Given the description of an element on the screen output the (x, y) to click on. 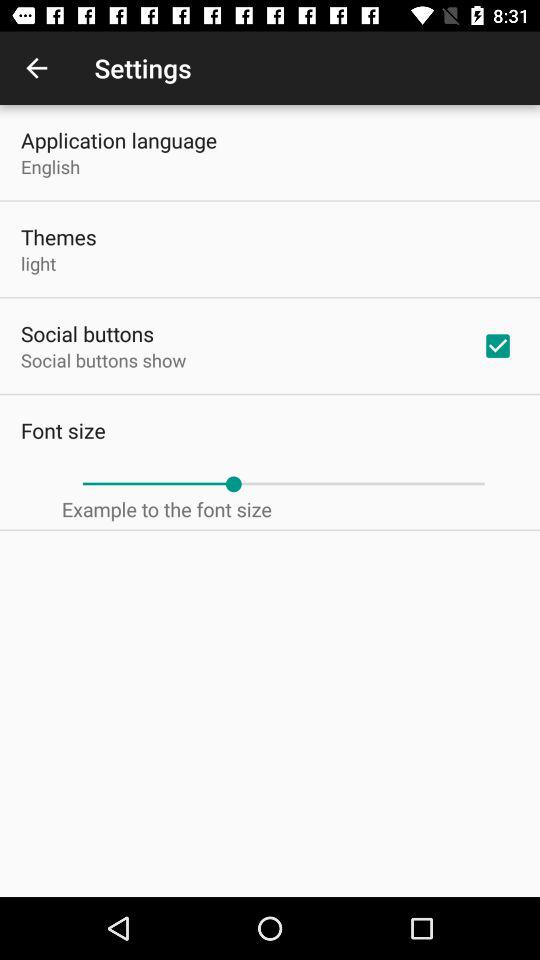
jump until light item (38, 263)
